Given the description of an element on the screen output the (x, y) to click on. 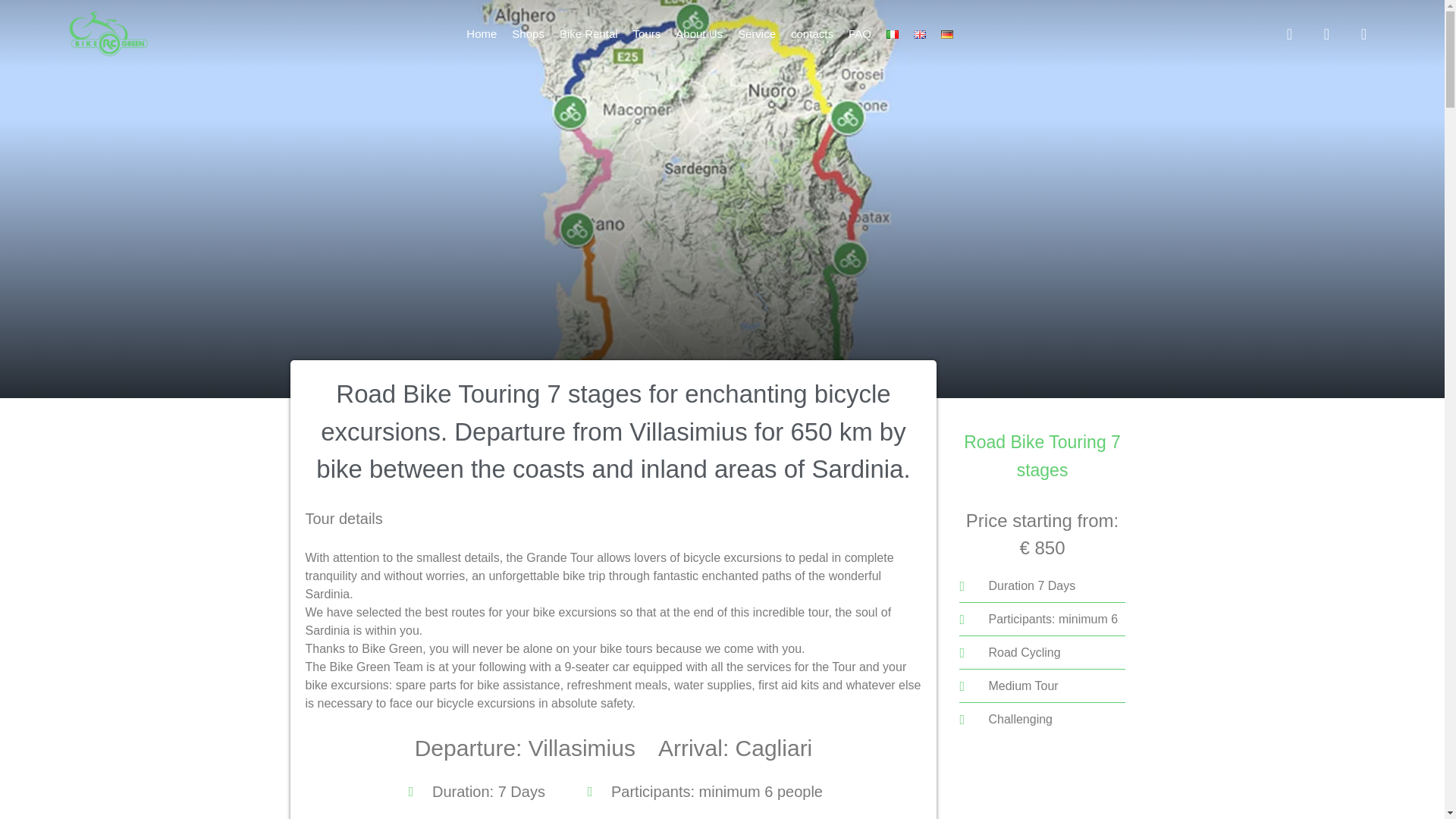
Bike Rental (588, 34)
contacts (811, 34)
Shops (528, 34)
Tours (647, 34)
About Us (698, 34)
Service (757, 34)
Sardinia Bike Green logo Main Logo 150 (108, 33)
Home (480, 34)
FAQ (859, 34)
